Given the description of an element on the screen output the (x, y) to click on. 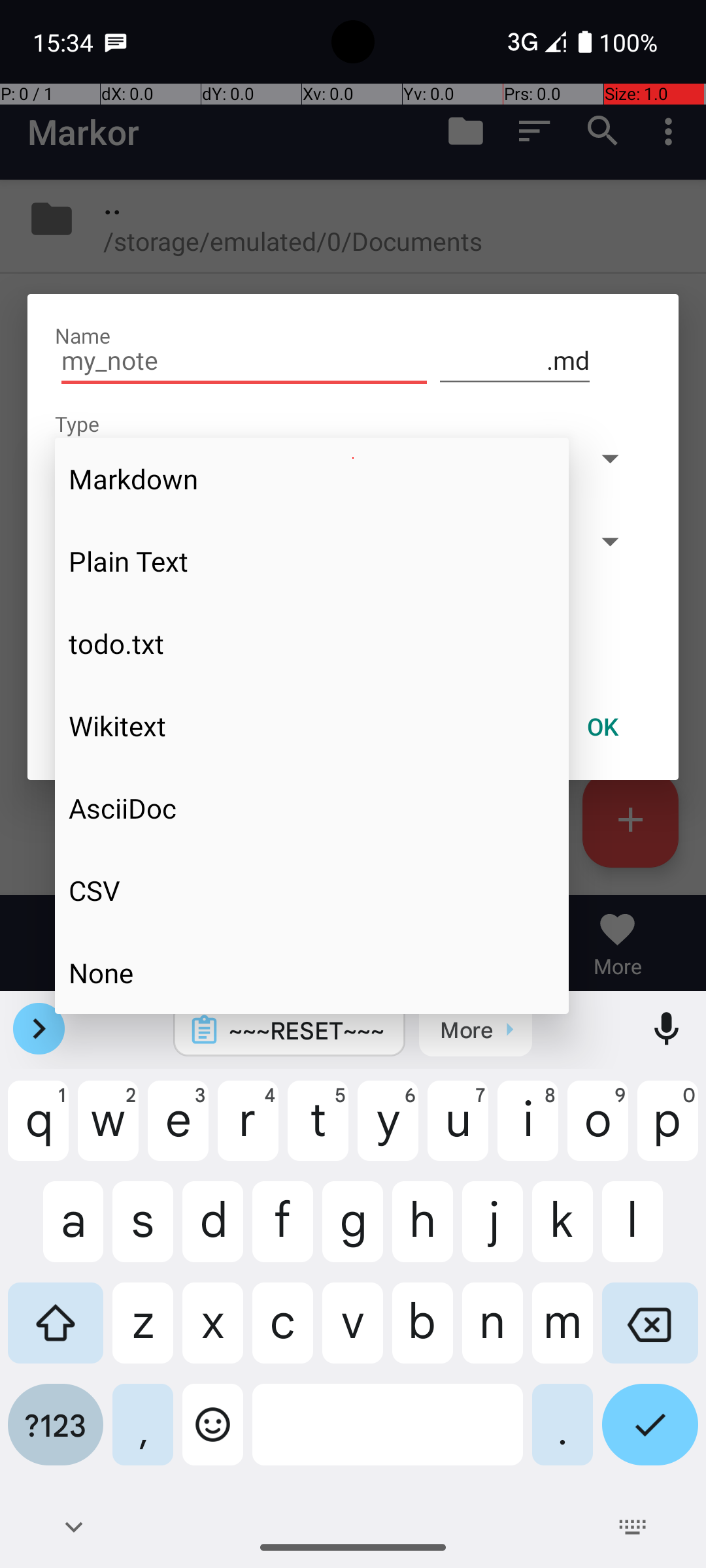
Plain Text Element type: android.widget.TextView (311, 561)
todo.txt Element type: android.widget.TextView (311, 643)
Wikitext Element type: android.widget.TextView (311, 725)
AsciiDoc Element type: android.widget.TextView (311, 808)
CSV Element type: android.widget.TextView (311, 890)
None Element type: android.widget.TextView (311, 972)
